Given the description of an element on the screen output the (x, y) to click on. 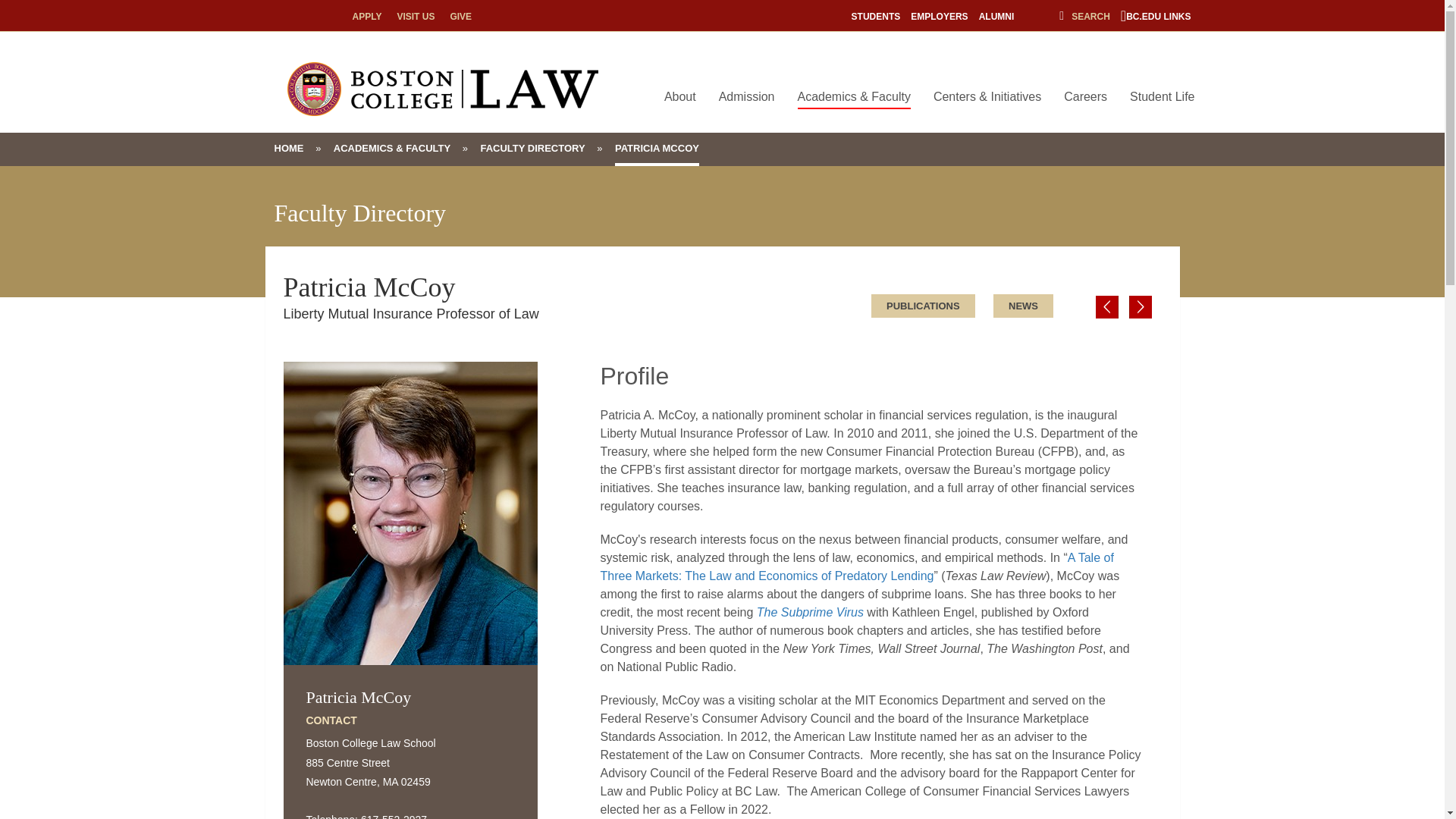
ALUMNI (996, 16)
SEARCH (1084, 16)
VISIT US (414, 16)
EMPLOYERS (939, 16)
GIVE (460, 16)
STUDENTS (876, 16)
APPLY (366, 16)
About (679, 96)
Admission (747, 96)
BC.EDU LINKS (1156, 16)
